Given the description of an element on the screen output the (x, y) to click on. 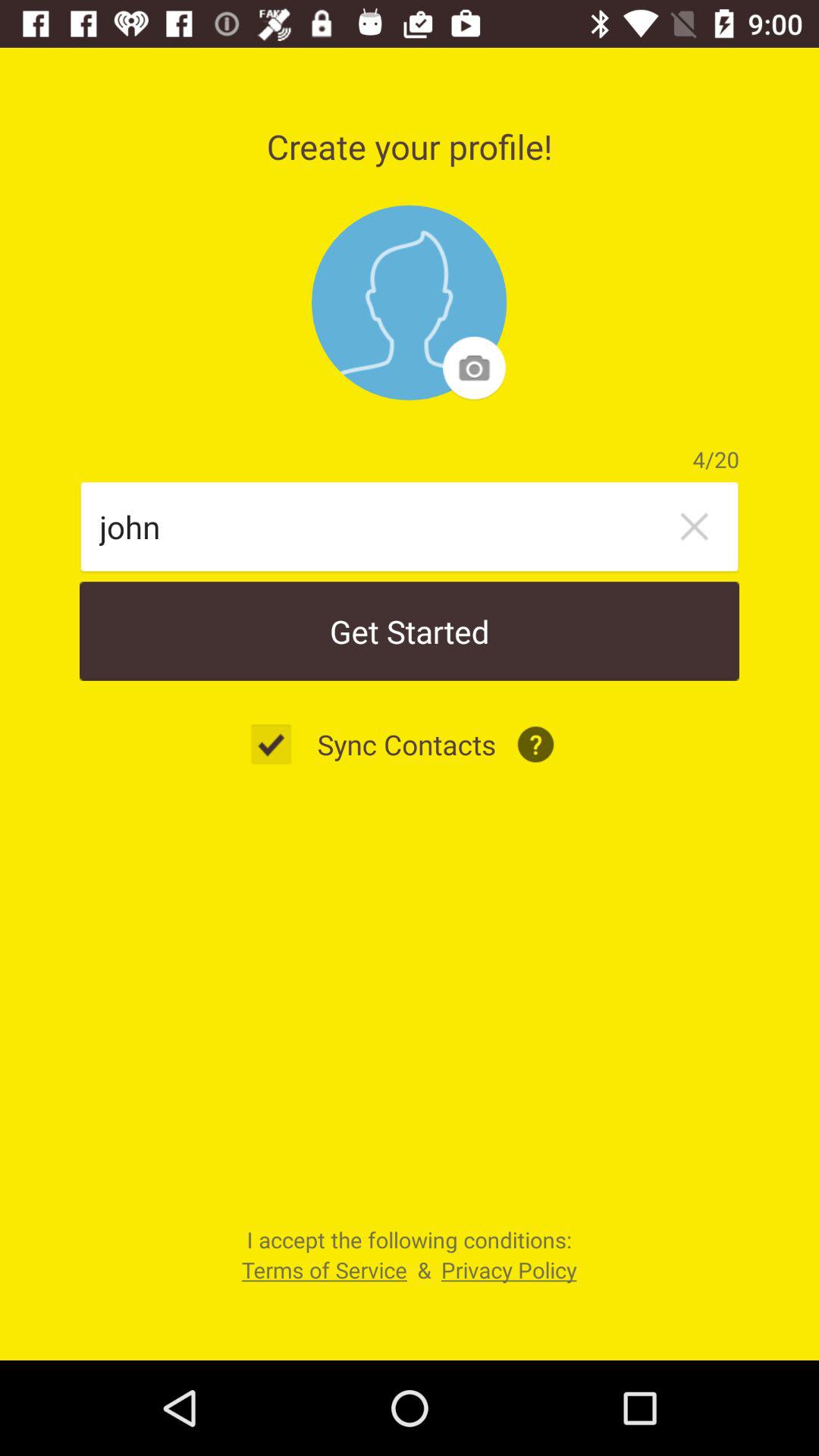
choose the item below 4/20 (694, 526)
